Given the description of an element on the screen output the (x, y) to click on. 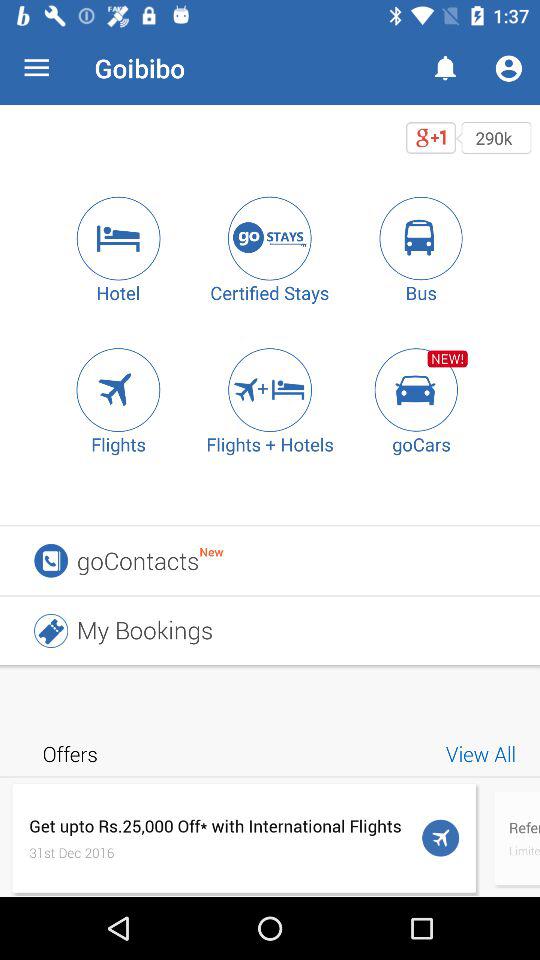
open item next to the goibibo app (36, 68)
